Given the description of an element on the screen output the (x, y) to click on. 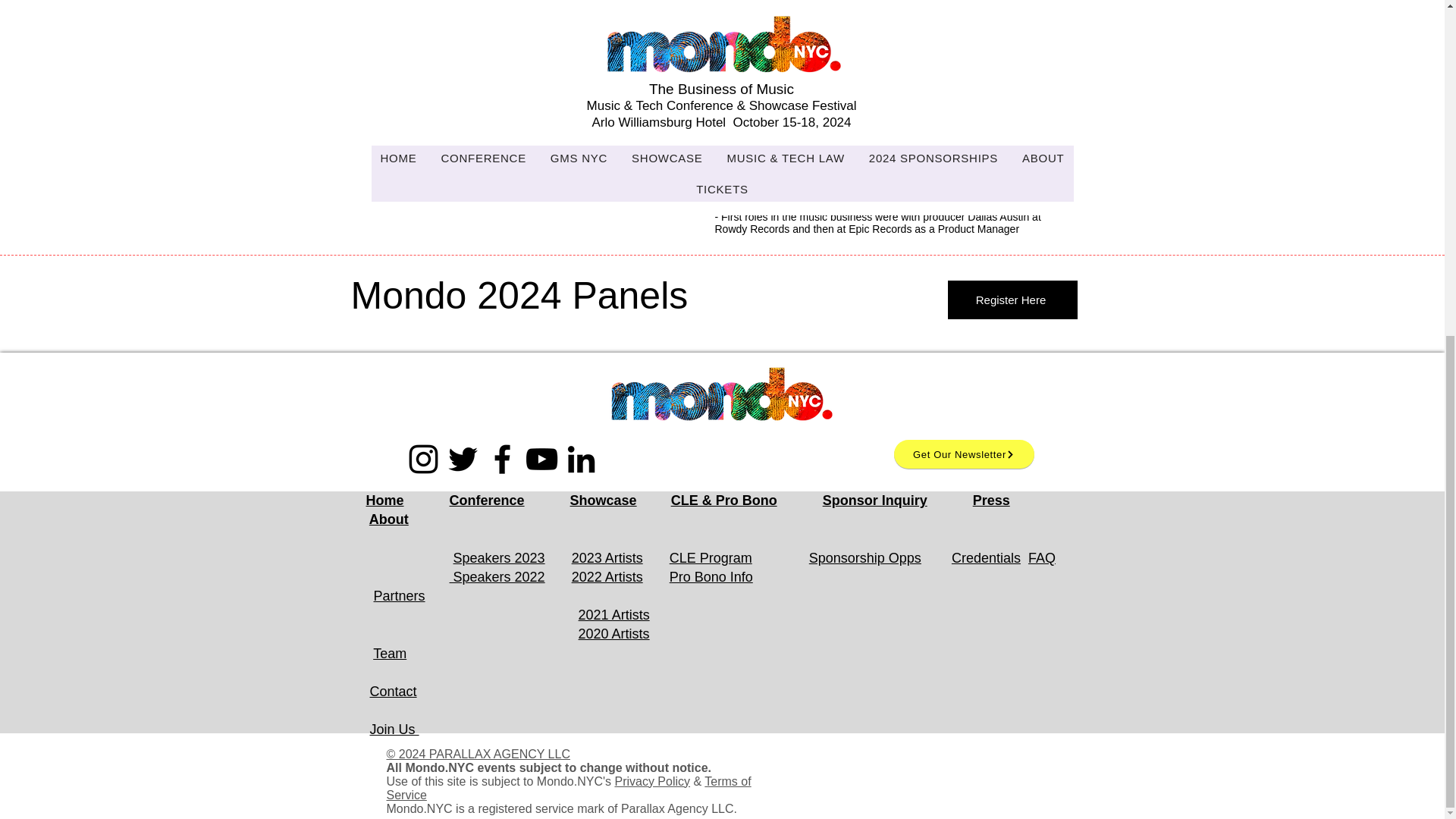
Caron Veazey Headshot - Caron Veazey.jpe (541, 16)
Mondo Speakers 2024 (457, 78)
Link (624, 78)
